Given the description of an element on the screen output the (x, y) to click on. 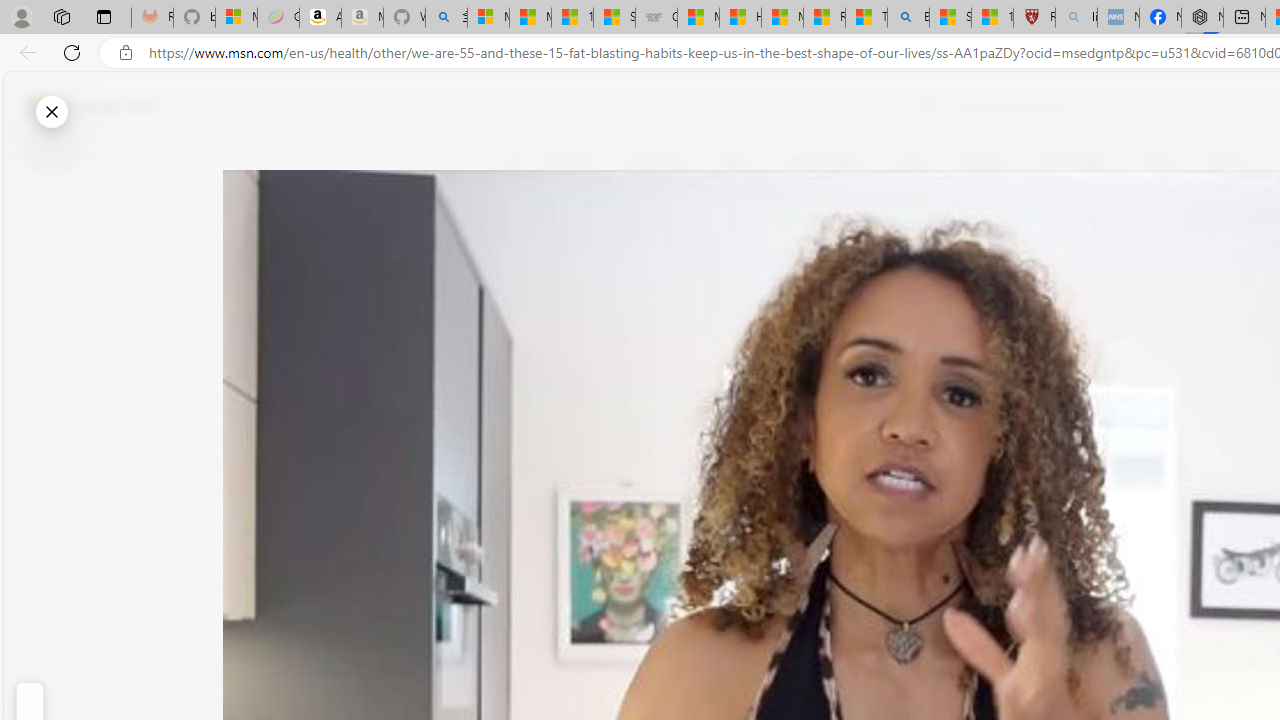
Local (909, 162)
Robert H. Shmerling, MD - Harvard Health (1033, 17)
Science - MSN (950, 17)
Technology (1071, 162)
12 Popular Science Lies that Must be Corrected (991, 17)
